Given the description of an element on the screen output the (x, y) to click on. 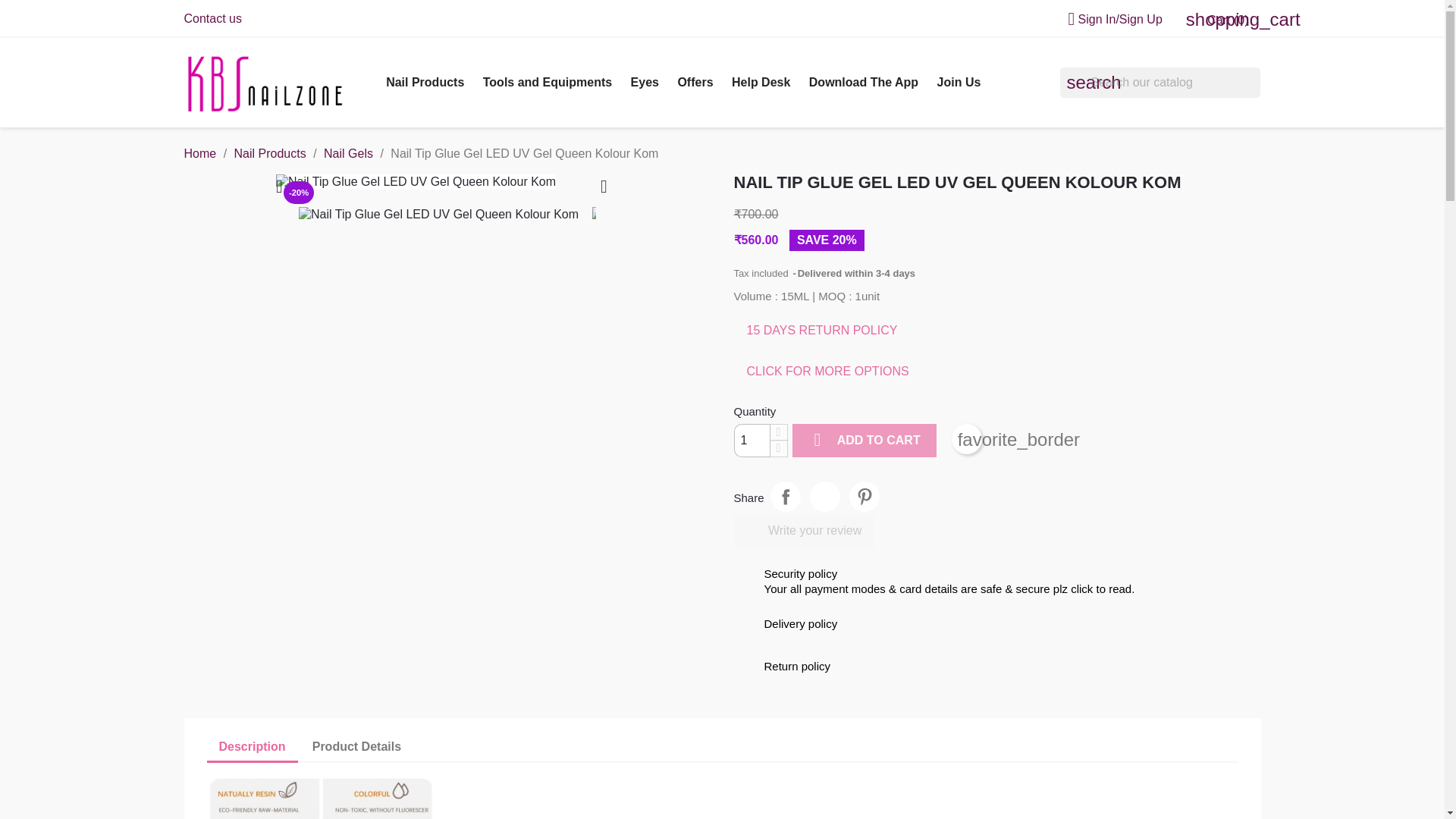
Help Desk (760, 82)
Share (785, 496)
Description (251, 747)
Home (199, 153)
Pinterest (863, 496)
Log in to your customer account (1109, 19)
Eyes (644, 82)
Contact us (212, 18)
Tweet (824, 496)
CLICK FOR MORE OPTIONS (827, 371)
